Given the description of an element on the screen output the (x, y) to click on. 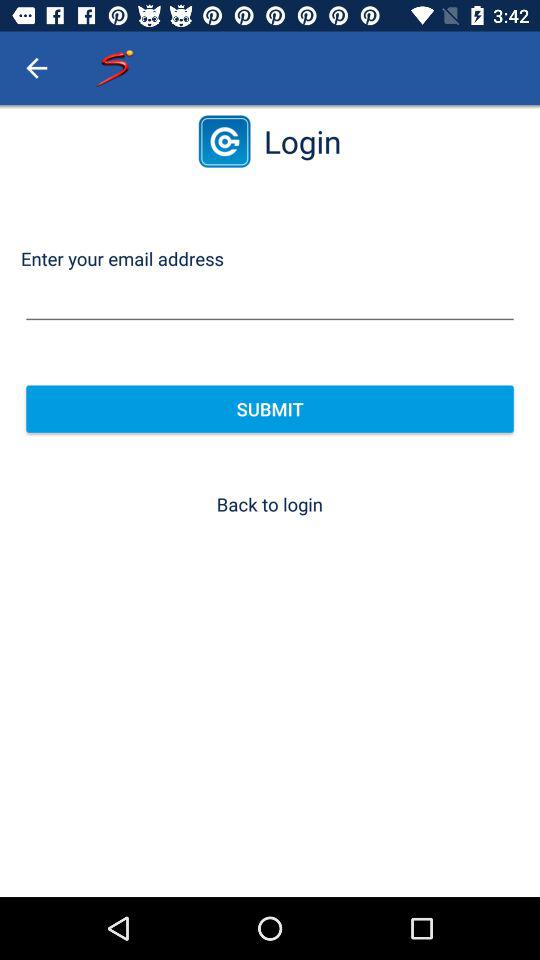
press item above the submit item (270, 300)
